Given the description of an element on the screen output the (x, y) to click on. 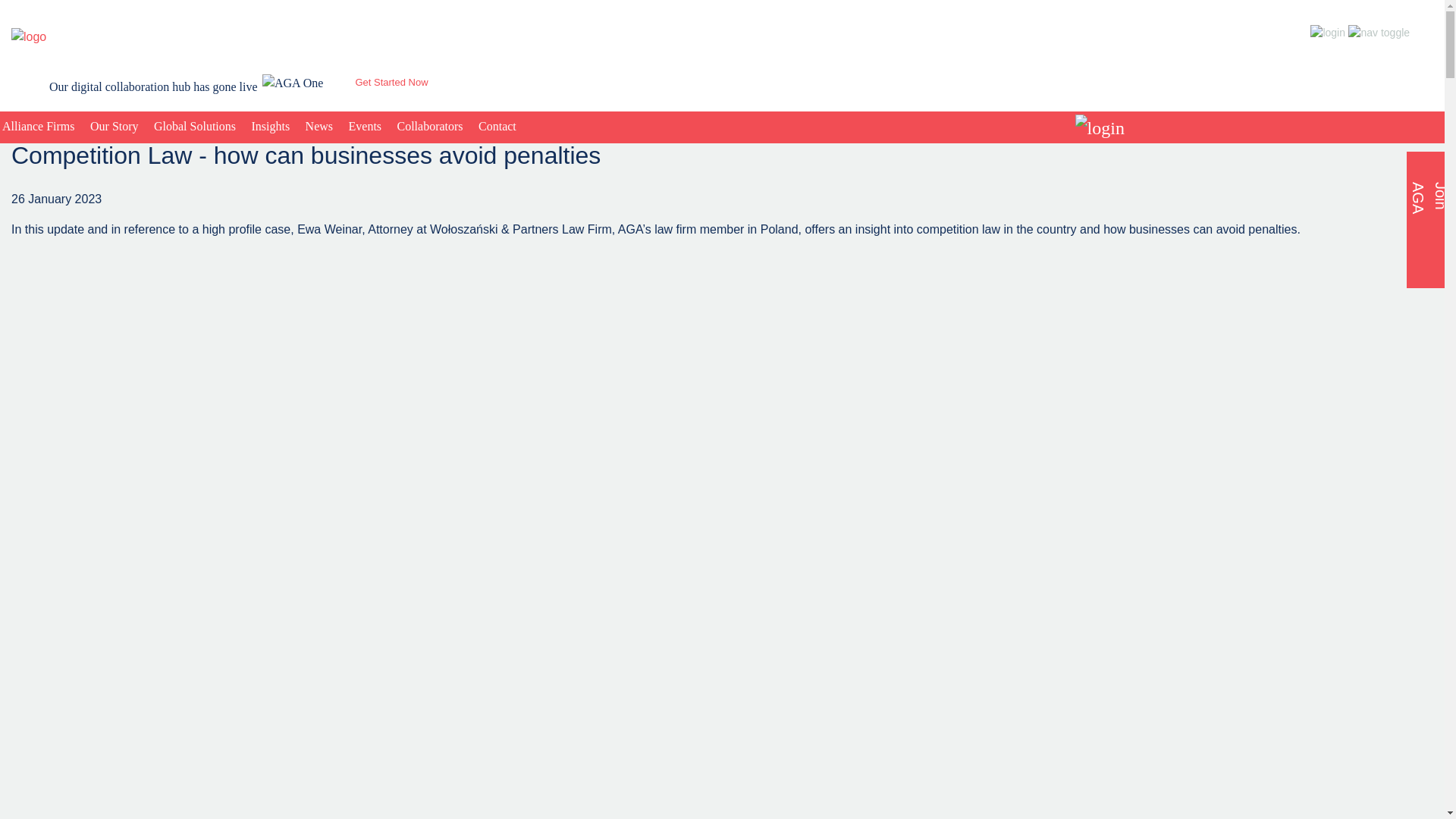
Alliance Firms (40, 126)
Events (365, 126)
Alliance Firms (40, 126)
Global Solutions (194, 126)
Get Started Now (390, 82)
Global Solutions (194, 126)
News (319, 126)
Collaborators (429, 126)
Our Story (114, 126)
Insights (269, 126)
Contact (496, 126)
Our Story (114, 126)
